Given the description of an element on the screen output the (x, y) to click on. 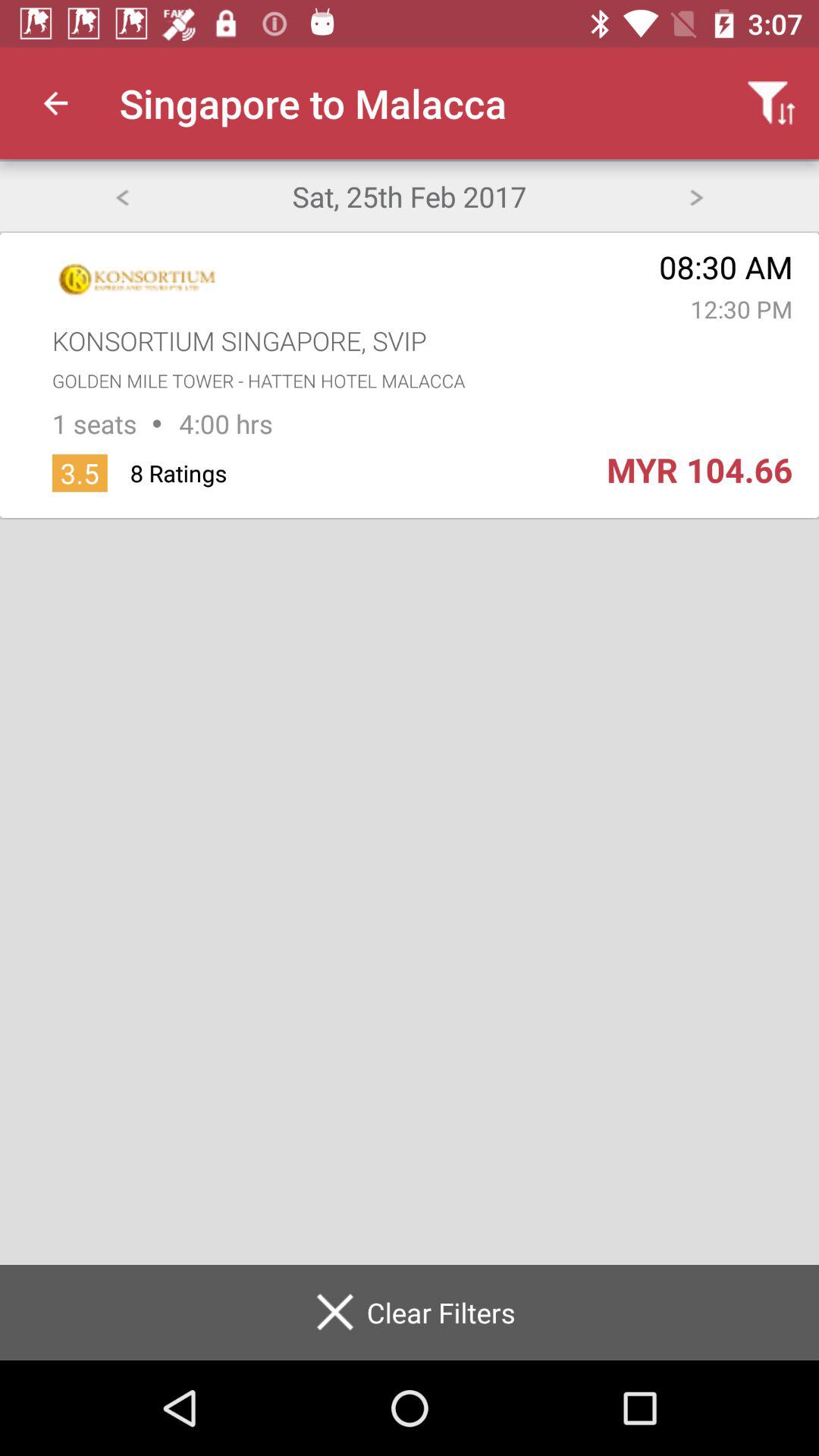
turn off the item to the left of the singapore to malacca icon (55, 103)
